Given the description of an element on the screen output the (x, y) to click on. 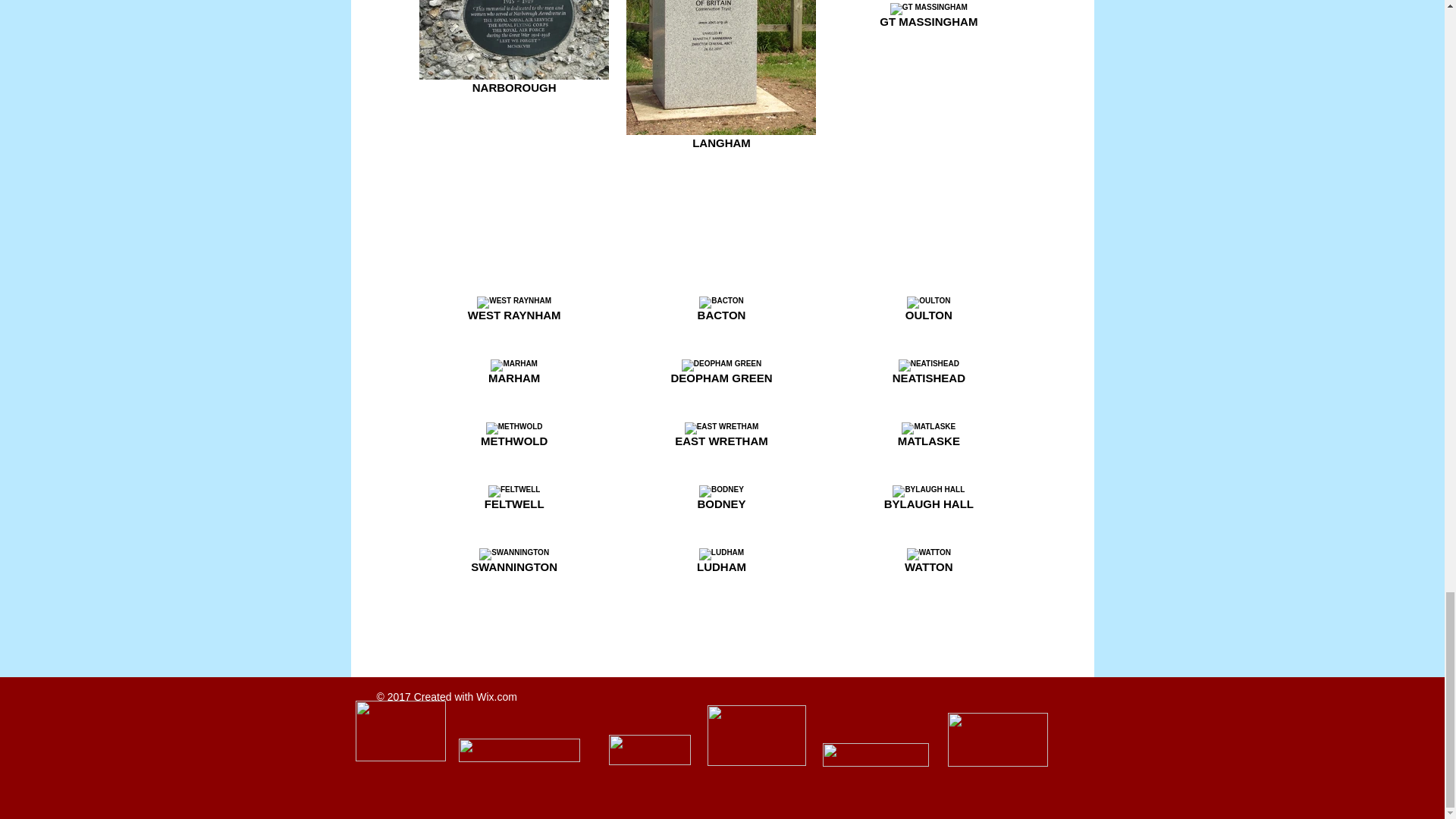
Wix.com (496, 696)
HLF.jpg (755, 735)
